Given the description of an element on the screen output the (x, y) to click on. 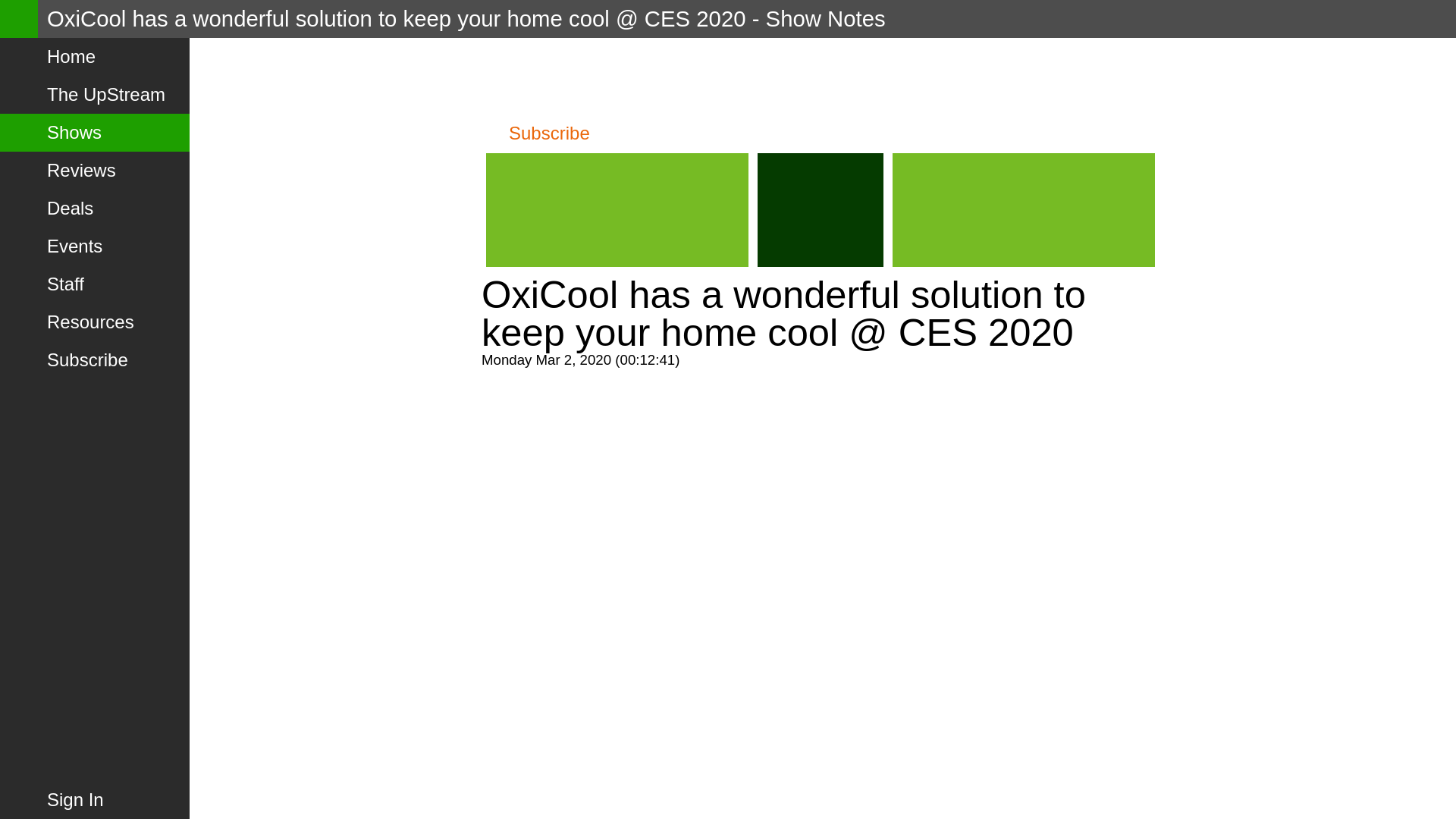
PLUGHITZ Live Presents (557, 75)
Subscribe (94, 360)
Reviews (94, 170)
The UpStream (94, 94)
Deals (94, 208)
Staff (94, 284)
Resources (94, 322)
PLUGHITZ Live Presents (557, 75)
Subscribe (535, 132)
Home (94, 56)
